Given the description of an element on the screen output the (x, y) to click on. 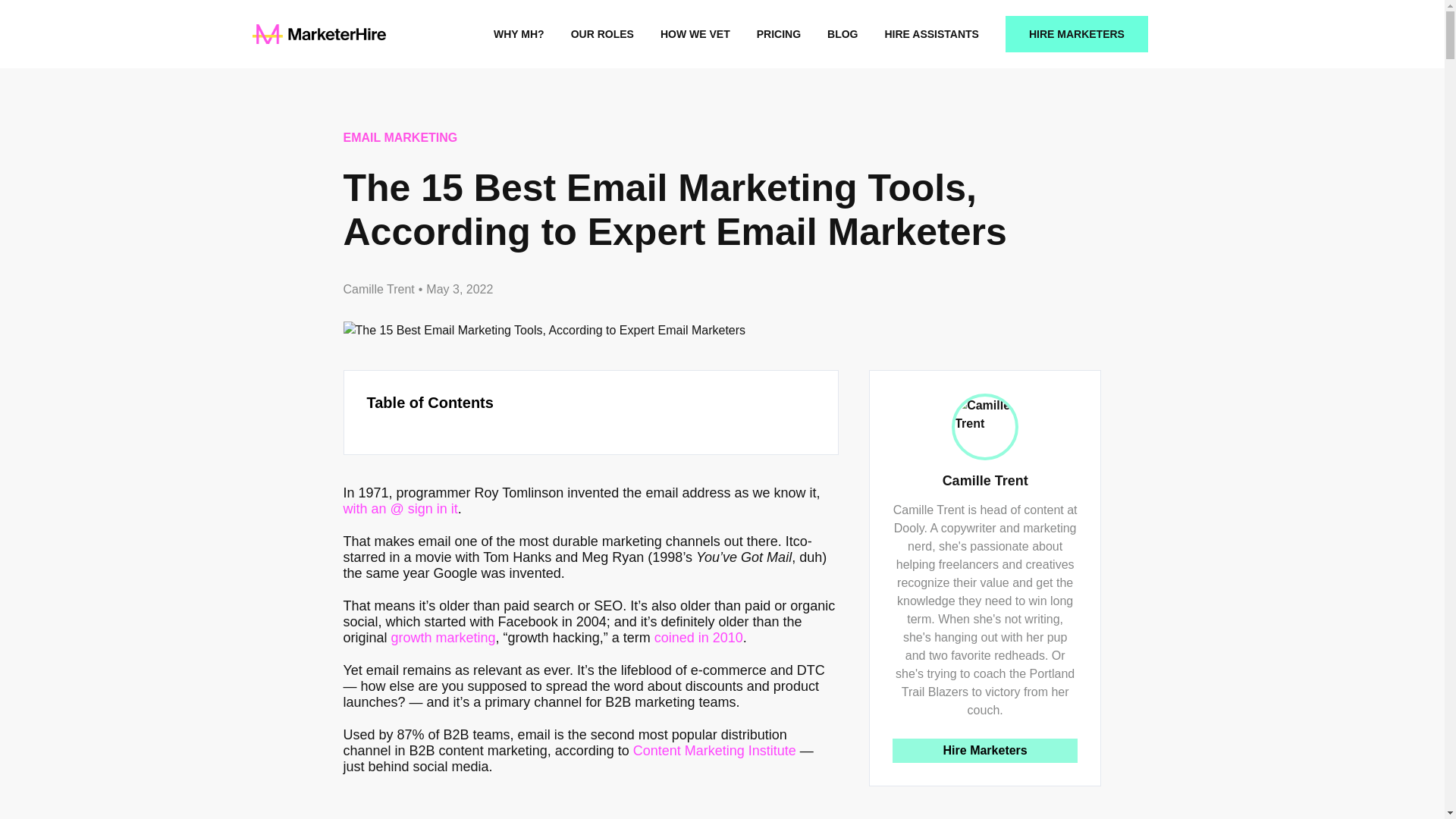
growth marketing (443, 637)
Content Marketing Institute (714, 750)
HIRE MARKETERS (1077, 33)
Camille Trent (377, 289)
HIRE ASSISTANTS (930, 33)
OUR ROLES (601, 33)
EMAIL MARKETING (399, 137)
WHY MH? (518, 33)
HOW WE VET (695, 33)
coined in 2010 (697, 637)
BLOG (842, 33)
PRICING (778, 33)
